Given the description of an element on the screen output the (x, y) to click on. 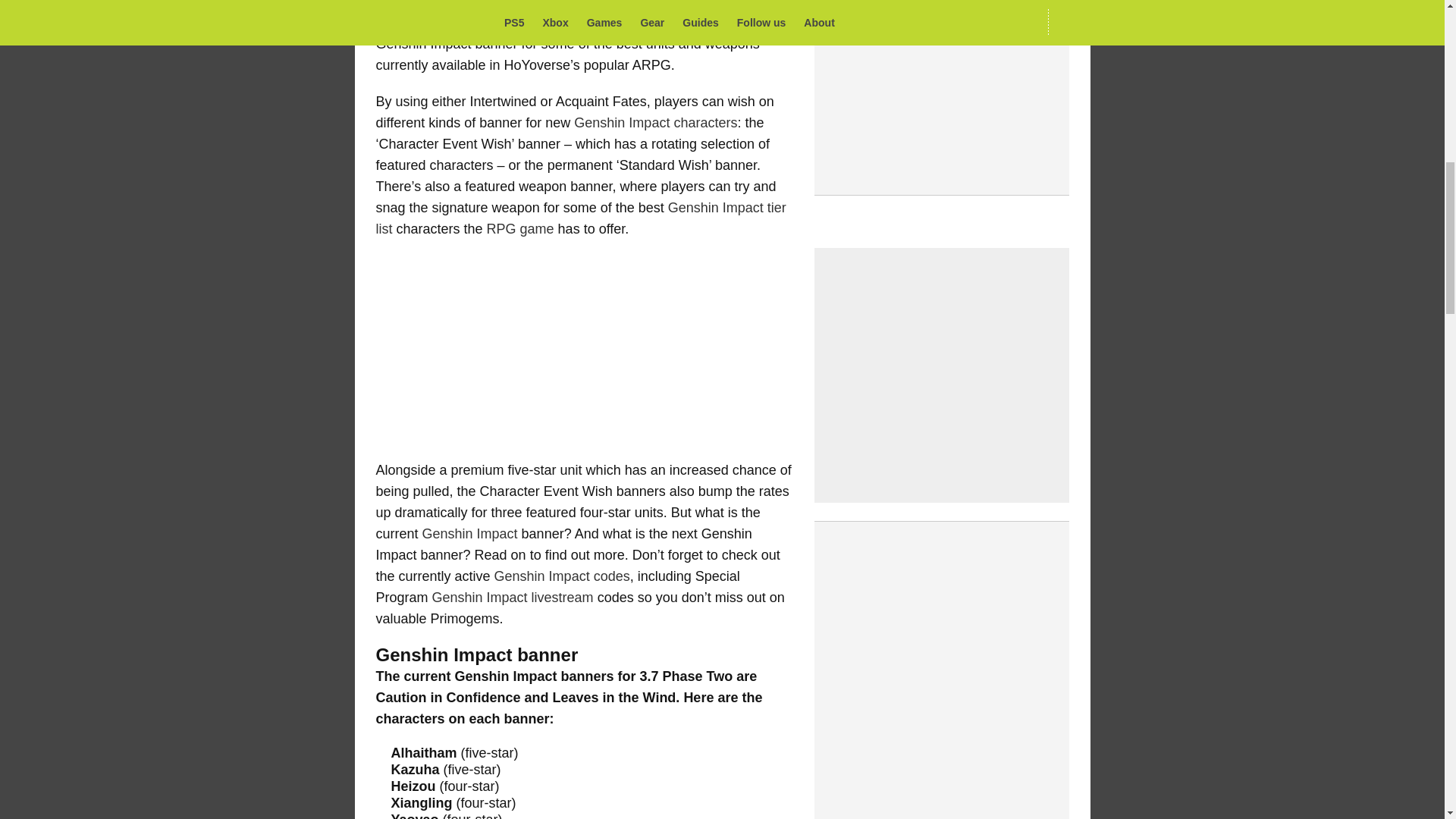
Genshin Impact characters (654, 122)
Genshin Impact tier list (580, 217)
